Given the description of an element on the screen output the (x, y) to click on. 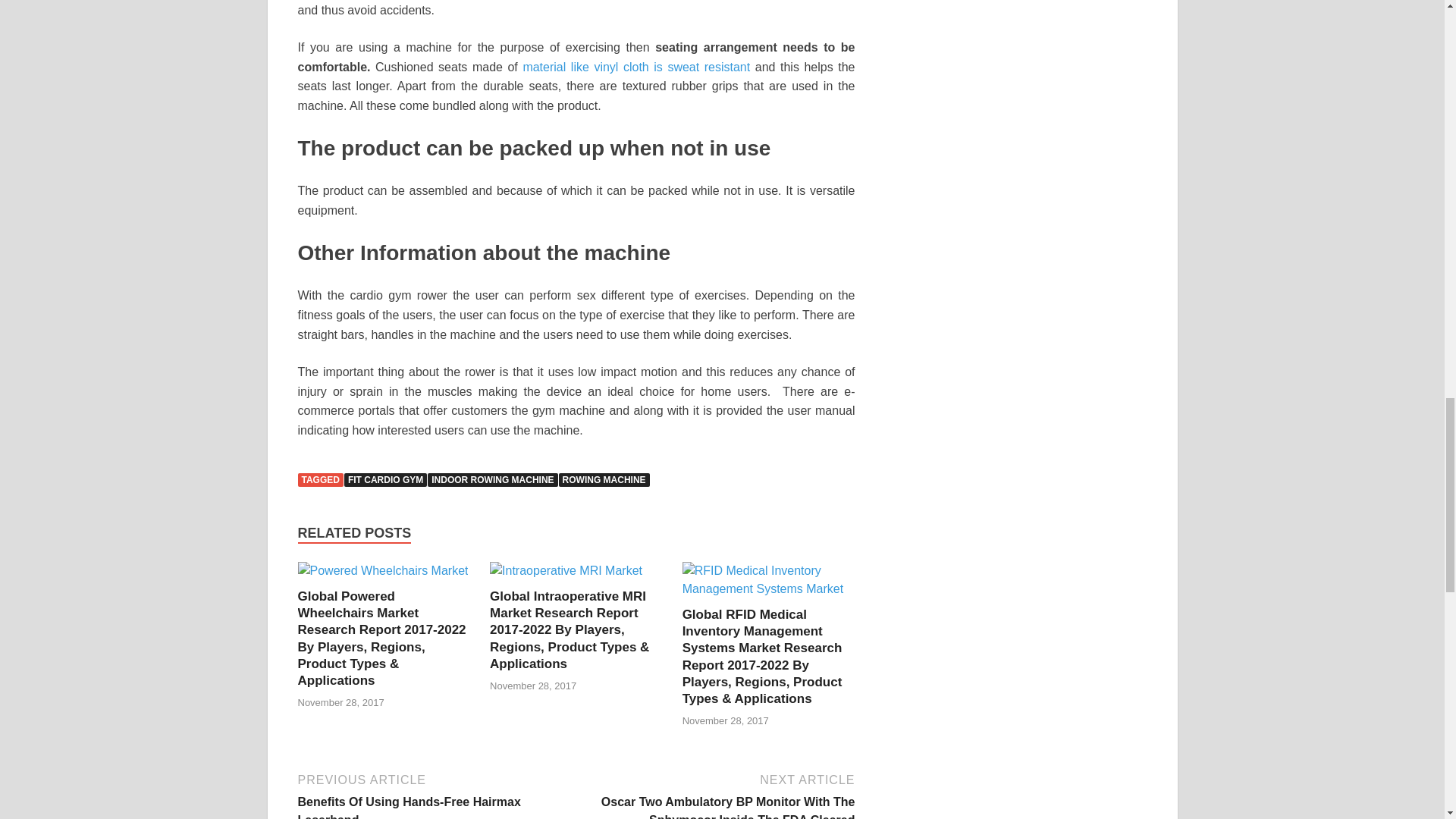
ROWING MACHINE (604, 479)
material like vinyl cloth is sweat resistant (635, 66)
FIT CARDIO GYM (384, 479)
INDOOR ROWING MACHINE (492, 479)
